Given the description of an element on the screen output the (x, y) to click on. 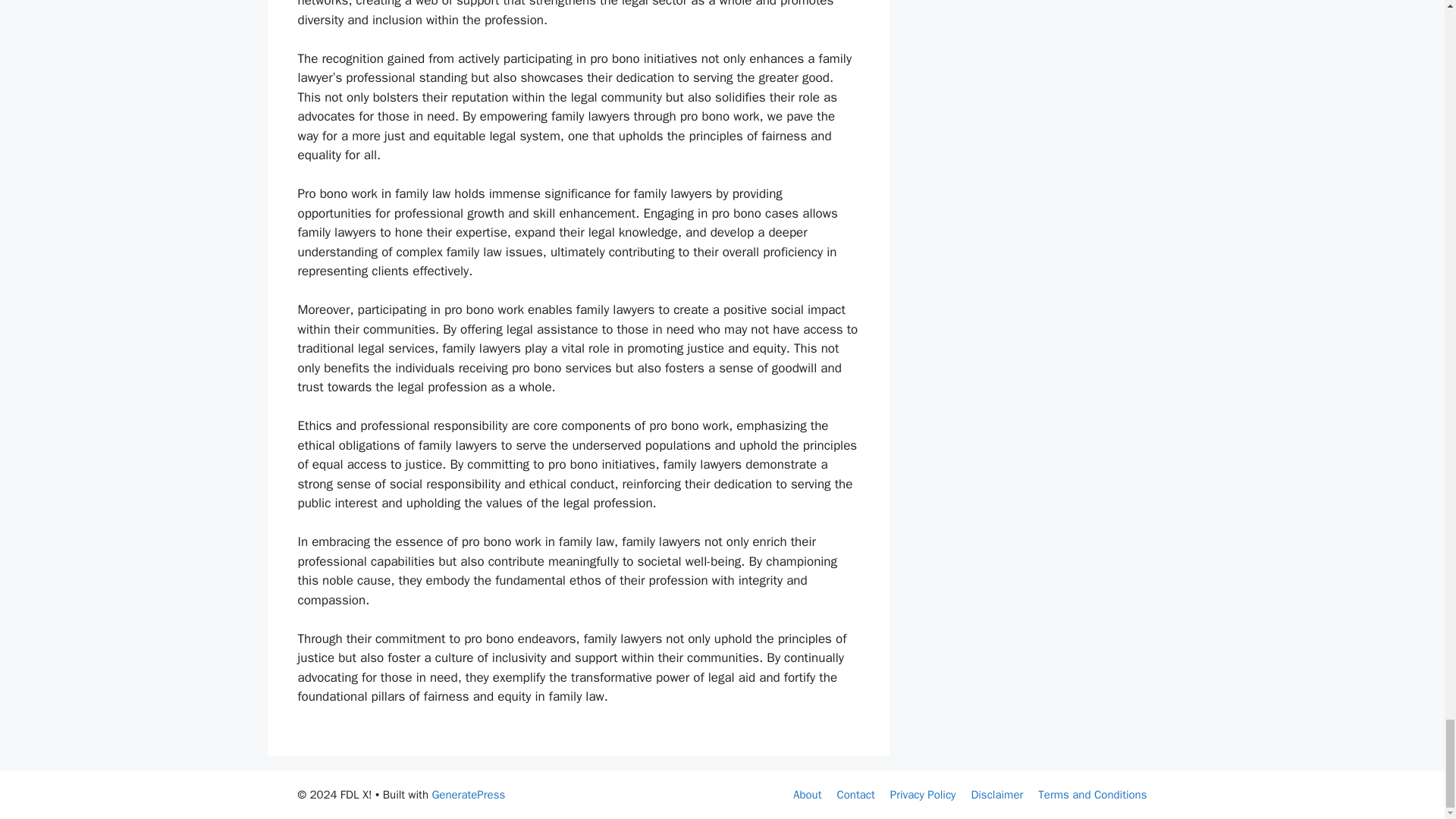
About (807, 794)
Terms and Conditions (1092, 794)
Disclaimer (997, 794)
Contact (855, 794)
GeneratePress (467, 794)
Privacy Policy (922, 794)
